Given the description of an element on the screen output the (x, y) to click on. 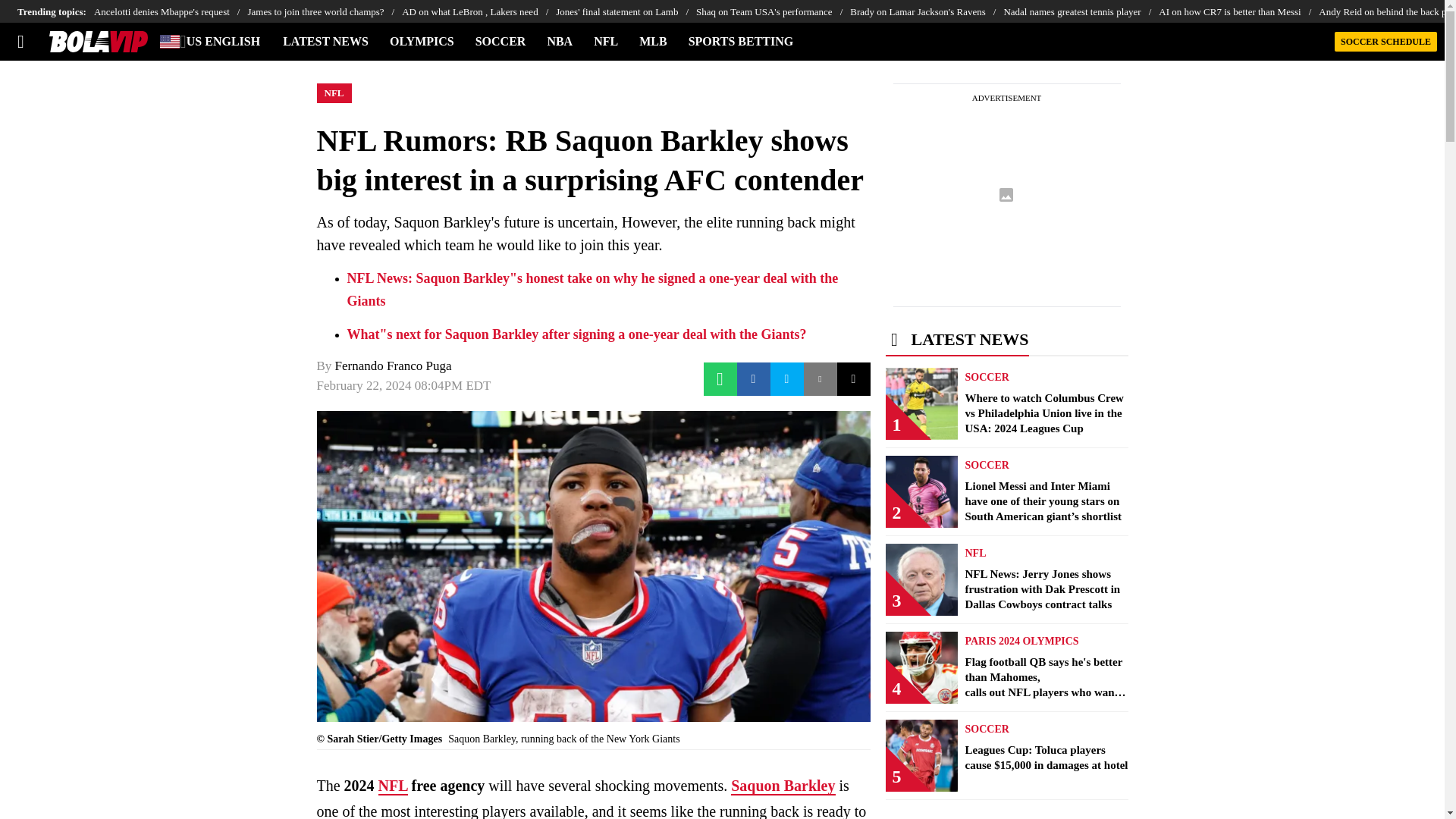
James to join three world champs? (324, 11)
Ancelotti denies Mbappe's request (170, 11)
AD on what LeBron , Lakers need (478, 11)
Nadal names greatest tennis player (1080, 11)
AI on how CR7 is better than Messi (1238, 11)
Jones' final statement on Lamb (625, 11)
Shaq on Team USA's performance (772, 11)
